Given the description of an element on the screen output the (x, y) to click on. 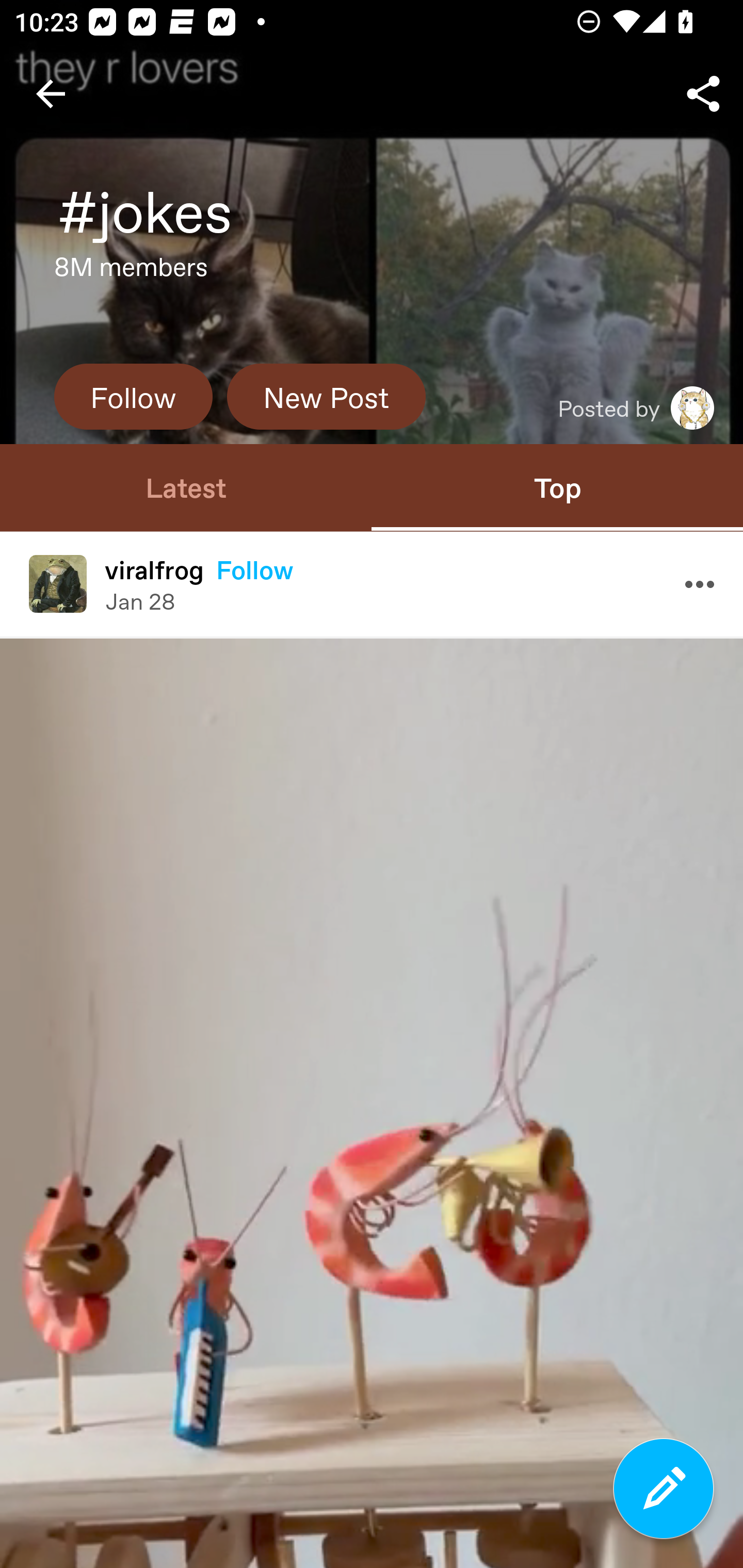
Navigate up (50, 93)
8M members (131, 272)
Follow (133, 396)
New Post (326, 396)
Latest (185, 486)
Avatar frame viralfrog   viralfrog Follow Jan 28 (371, 583)
Follow (254, 569)
Compose a new post (663, 1488)
